Given the description of an element on the screen output the (x, y) to click on. 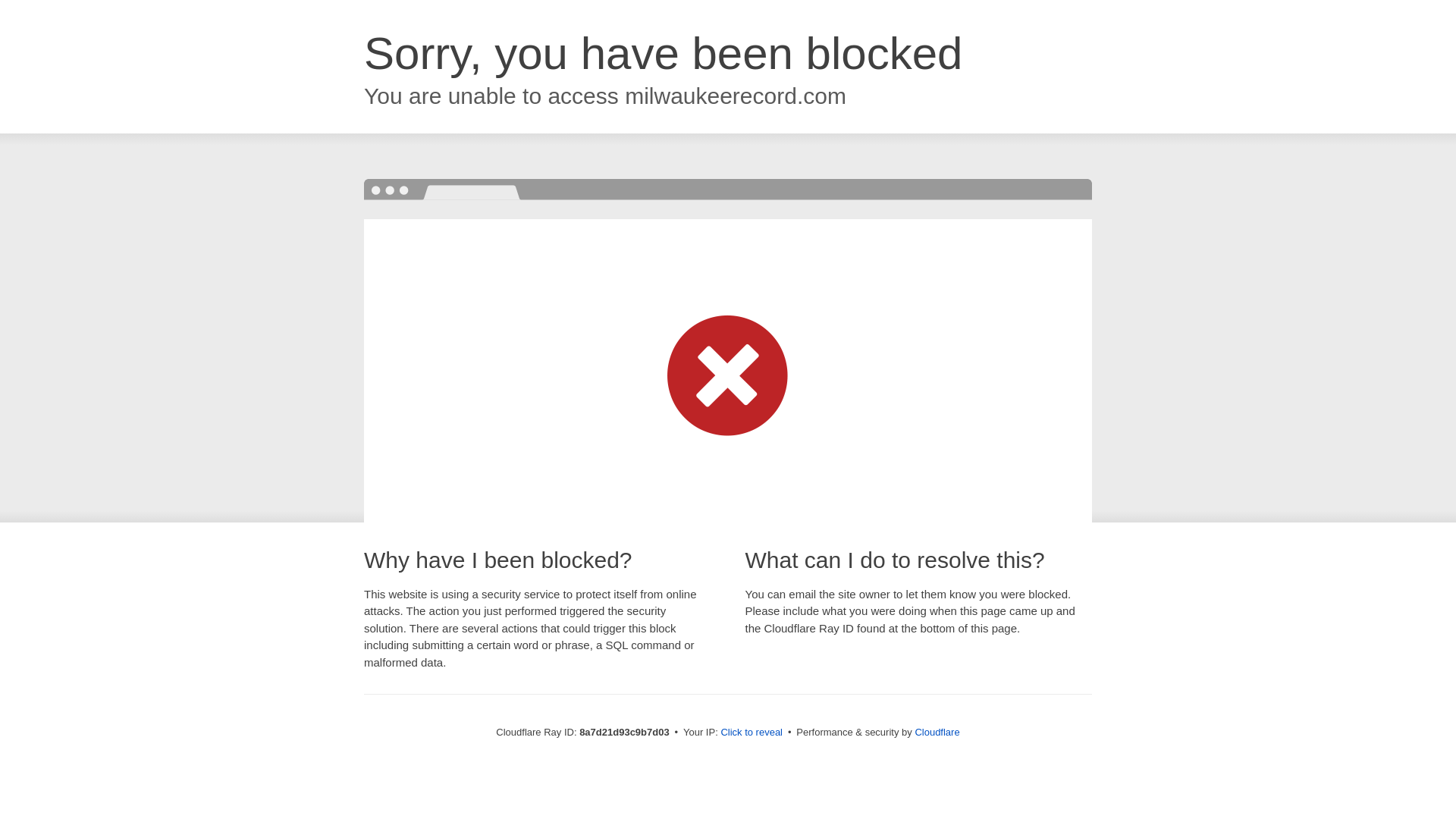
Cloudflare (936, 731)
Click to reveal (751, 732)
